Given the description of an element on the screen output the (x, y) to click on. 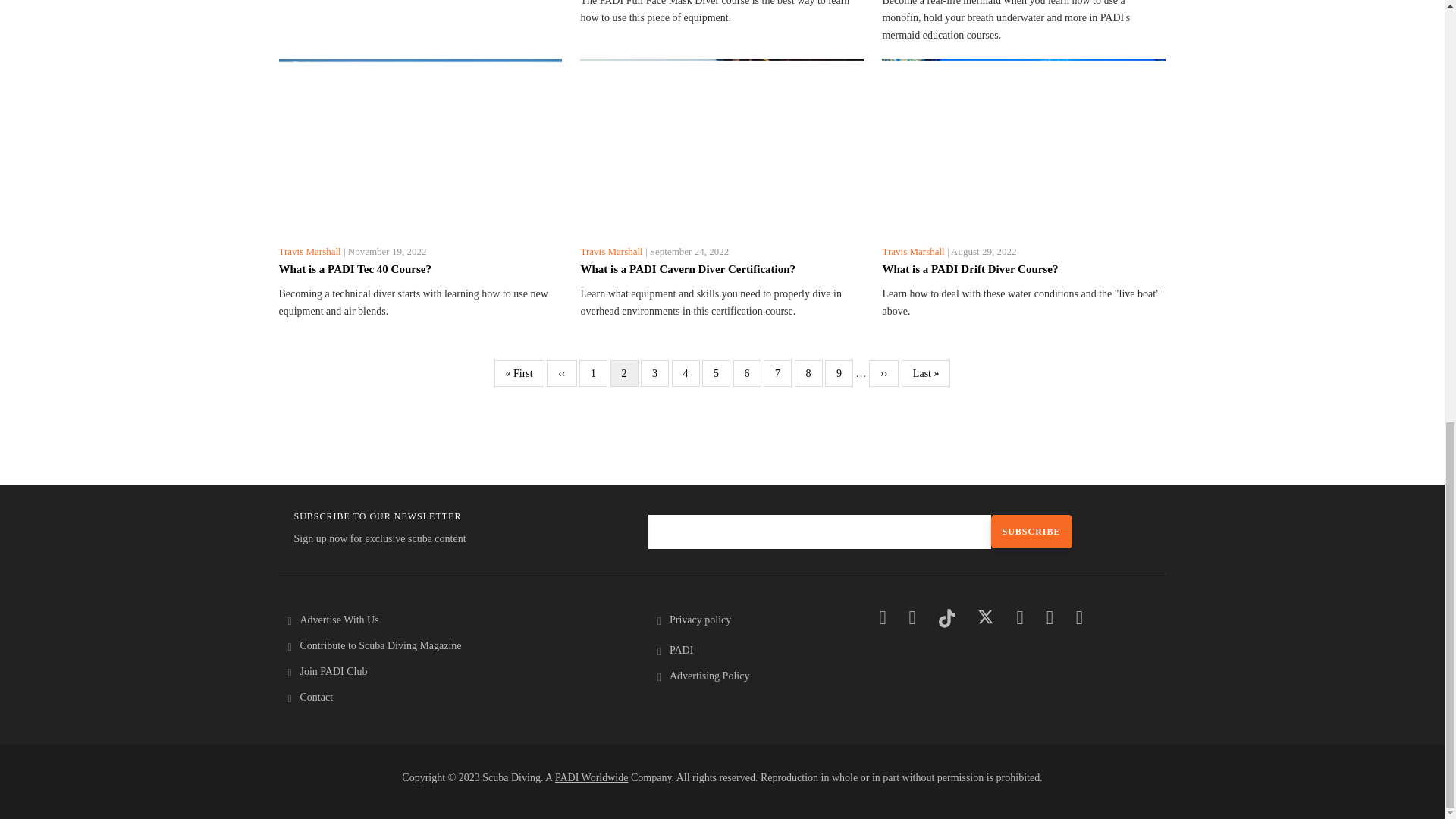
Go to page 5 (715, 373)
Go to page 7 (777, 373)
Subscribe (1030, 531)
Go to first page (519, 373)
Go to page 1 (593, 373)
Current page (624, 373)
Go to last page (925, 373)
Go to page 3 (654, 373)
Go to page 9 (839, 373)
Go to next page (883, 373)
Go to page 4 (685, 373)
Go to previous page (561, 373)
Go to page 8 (808, 373)
Go to page 6 (747, 373)
